Given the description of an element on the screen output the (x, y) to click on. 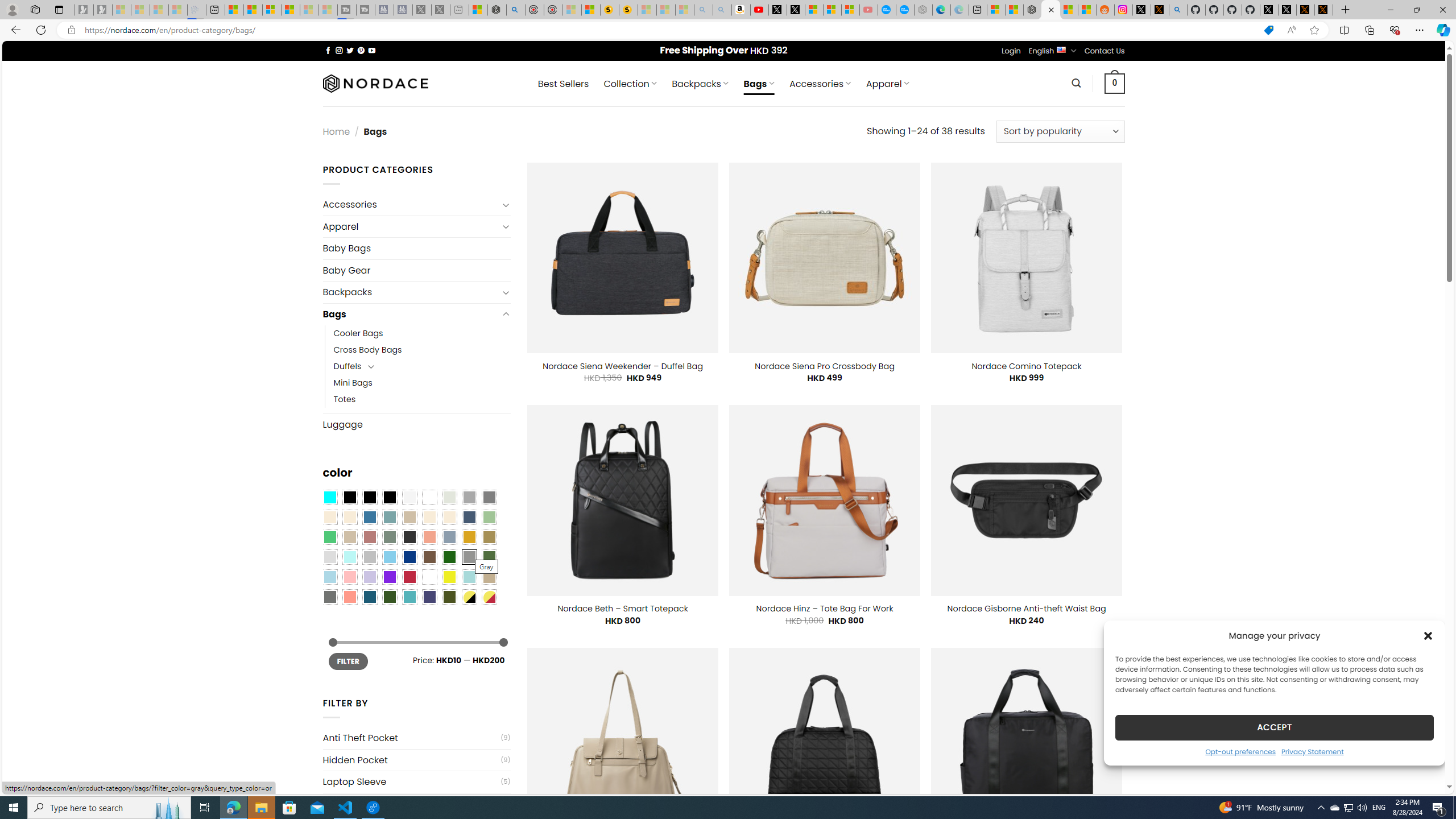
Overview (271, 9)
Luggage (416, 424)
All Black (349, 497)
Anti Theft Pocket(9) (416, 738)
Aqua (468, 577)
Hidden Pocket (410, 760)
Emerald Green (329, 536)
github - Search (1178, 9)
Opt-out preferences (1240, 750)
Follow on Twitter (349, 49)
